Given the description of an element on the screen output the (x, y) to click on. 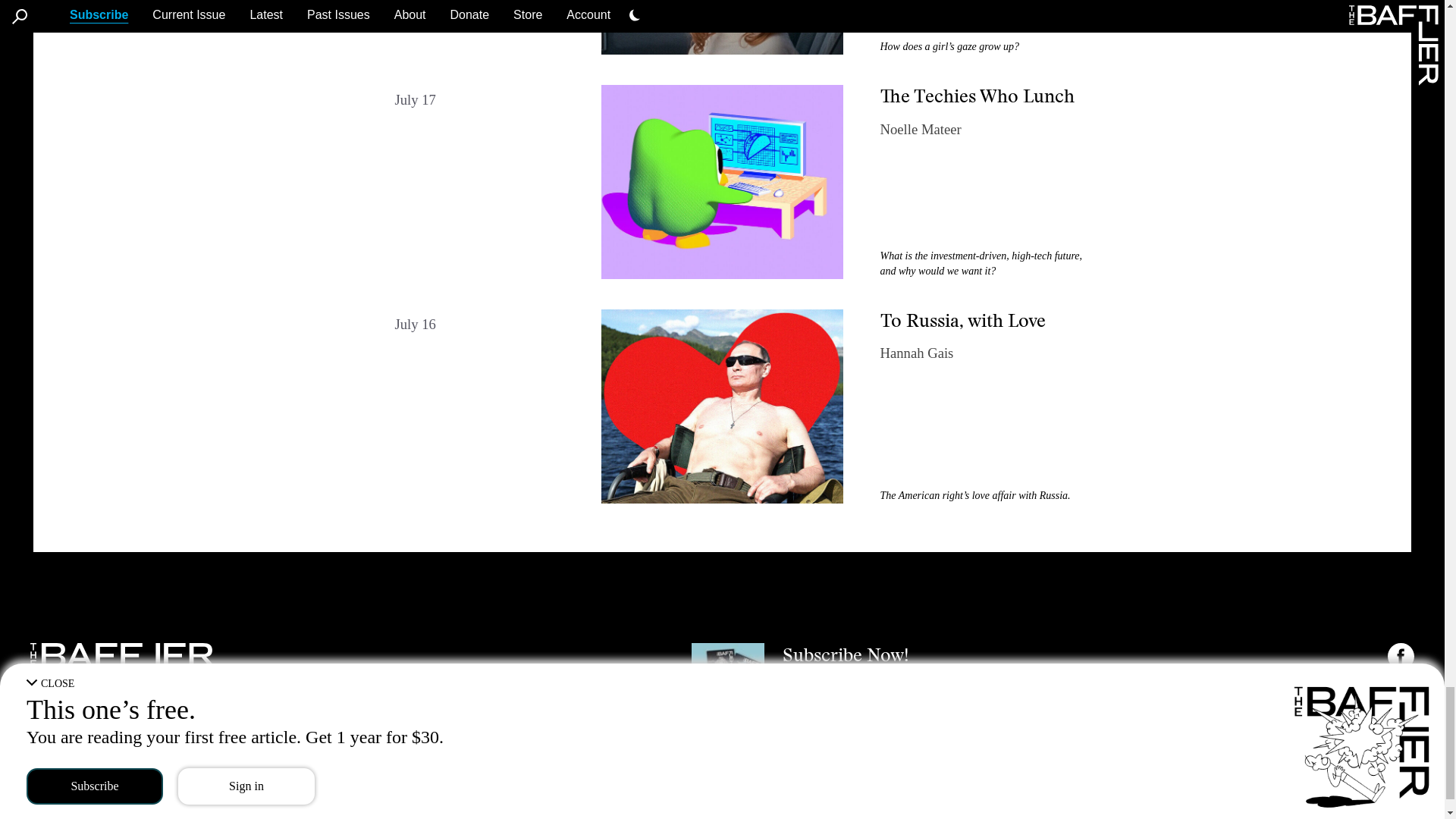
on (1395, 775)
